Given the description of an element on the screen output the (x, y) to click on. 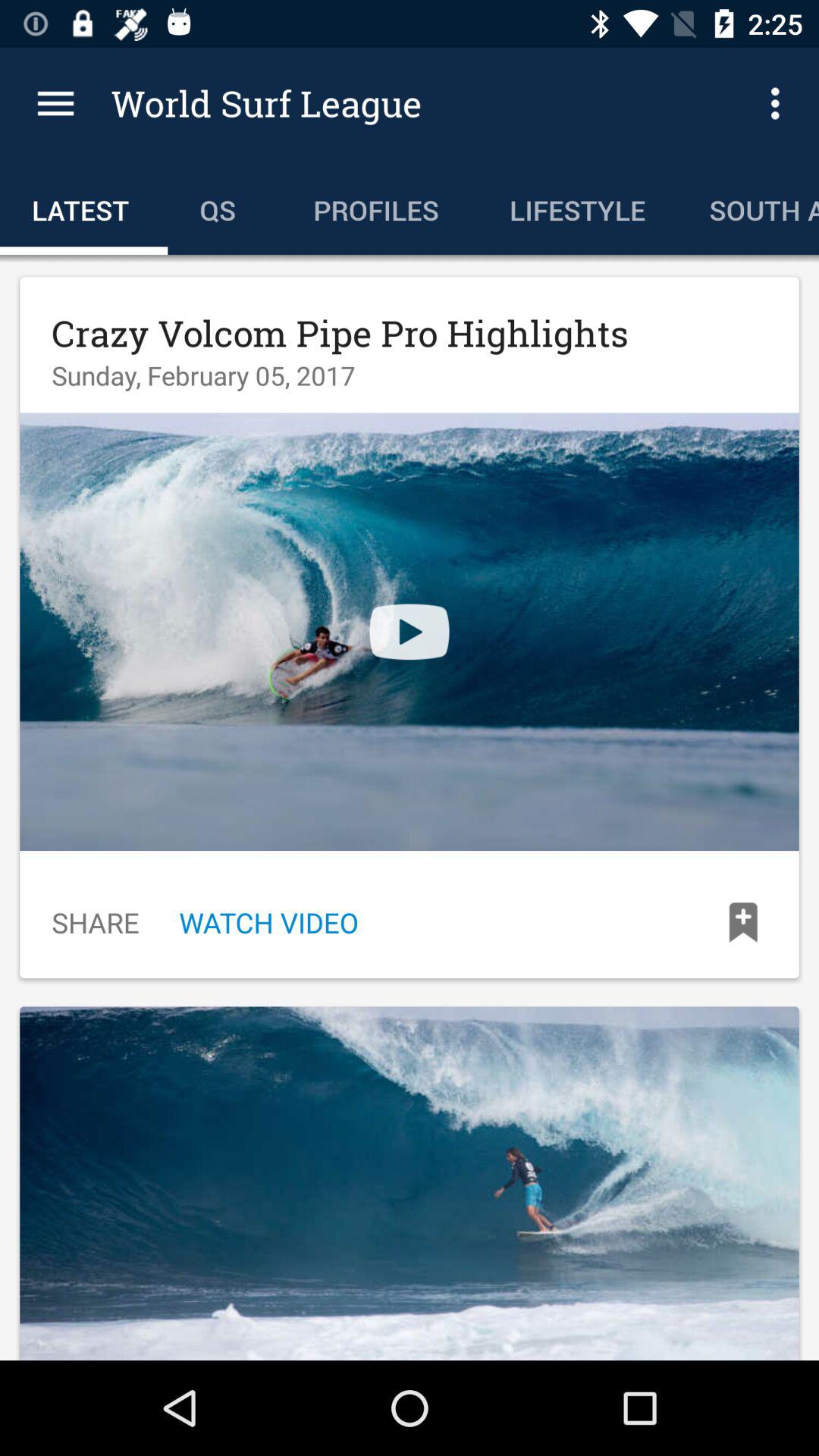
jump to share item (95, 922)
